Given the description of an element on the screen output the (x, y) to click on. 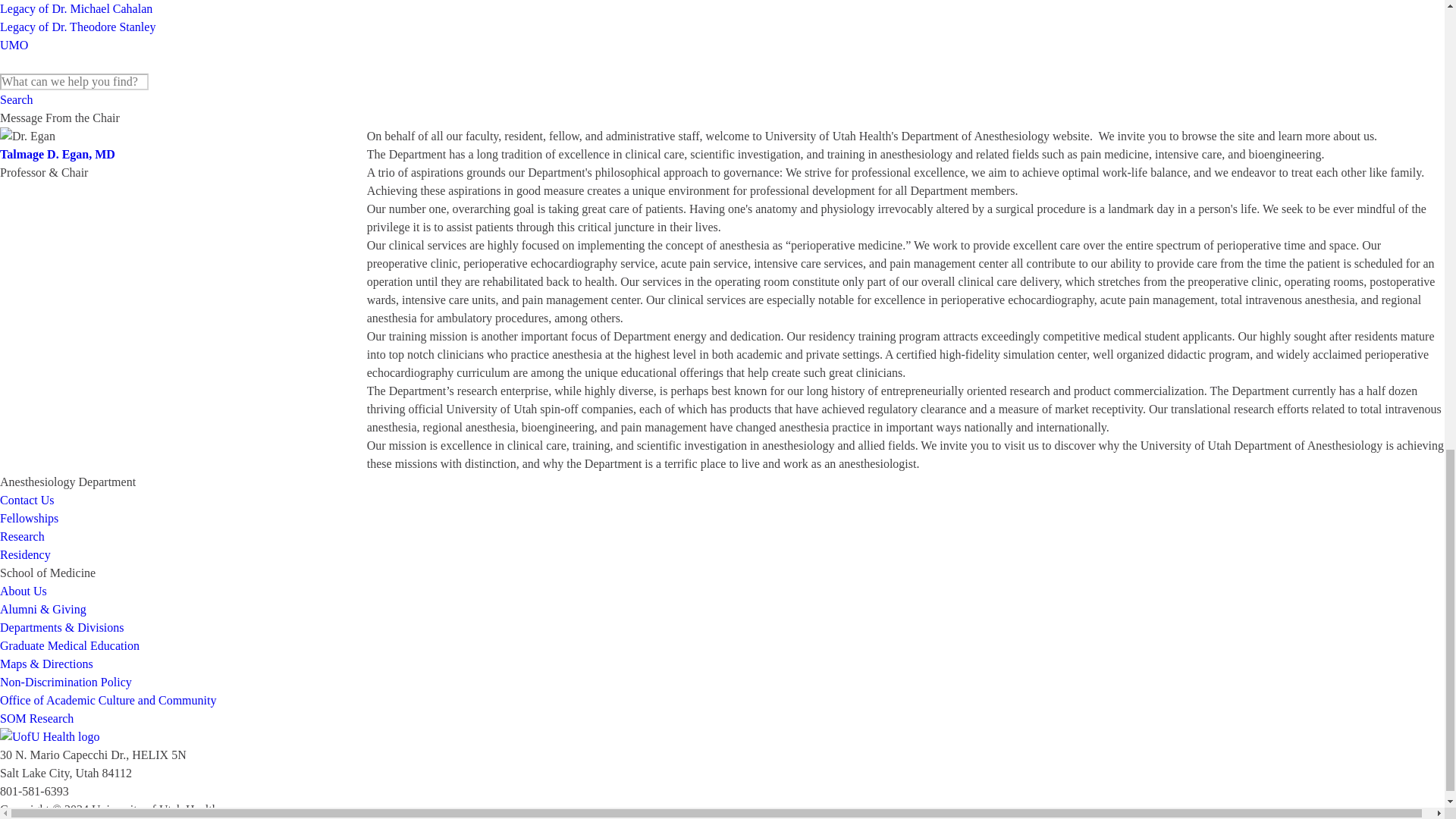
University of Utah Healthcare (722, 737)
